Given the description of an element on the screen output the (x, y) to click on. 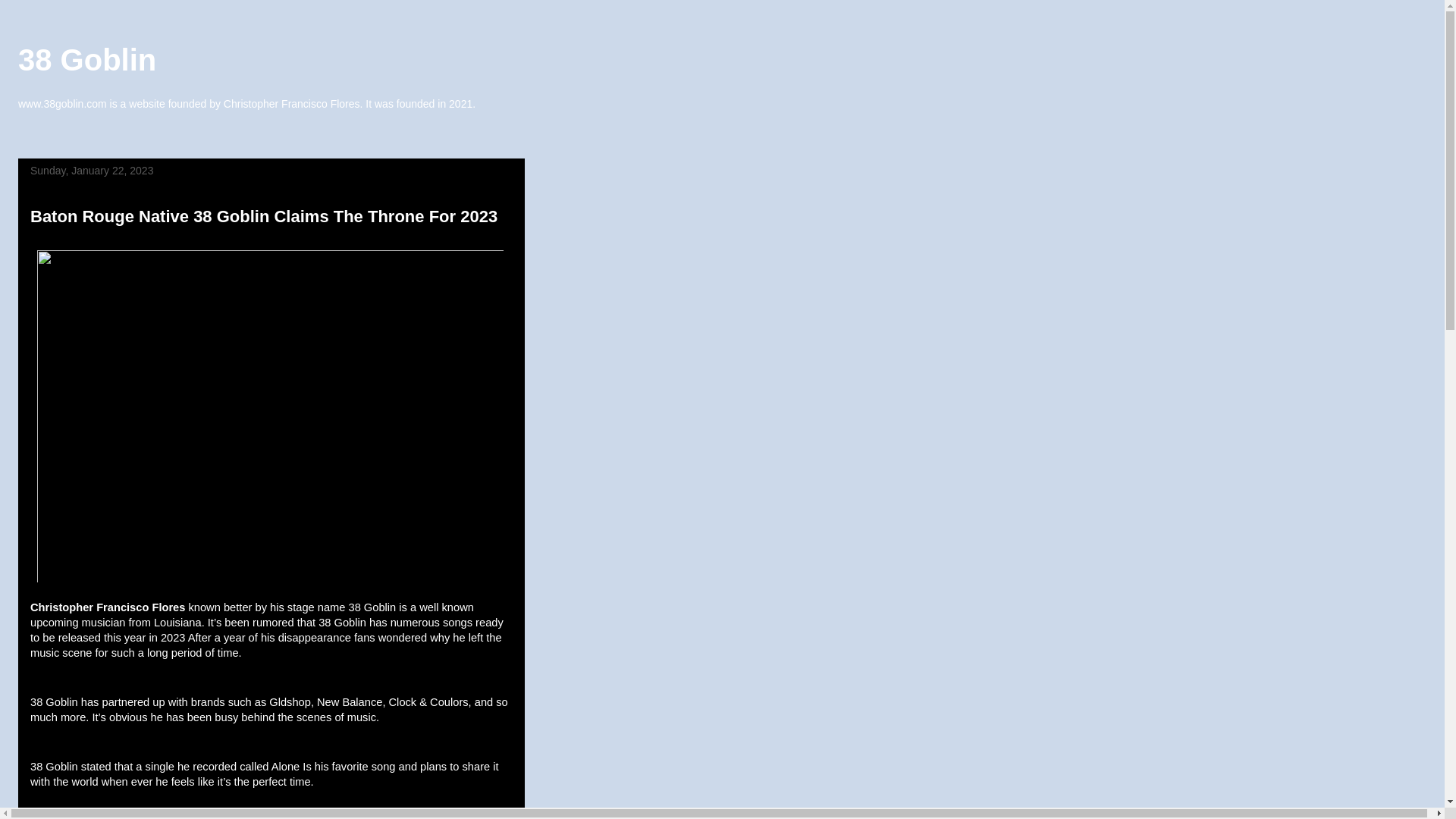
38 Goblin Element type: text (87, 59)
